Given the description of an element on the screen output the (x, y) to click on. 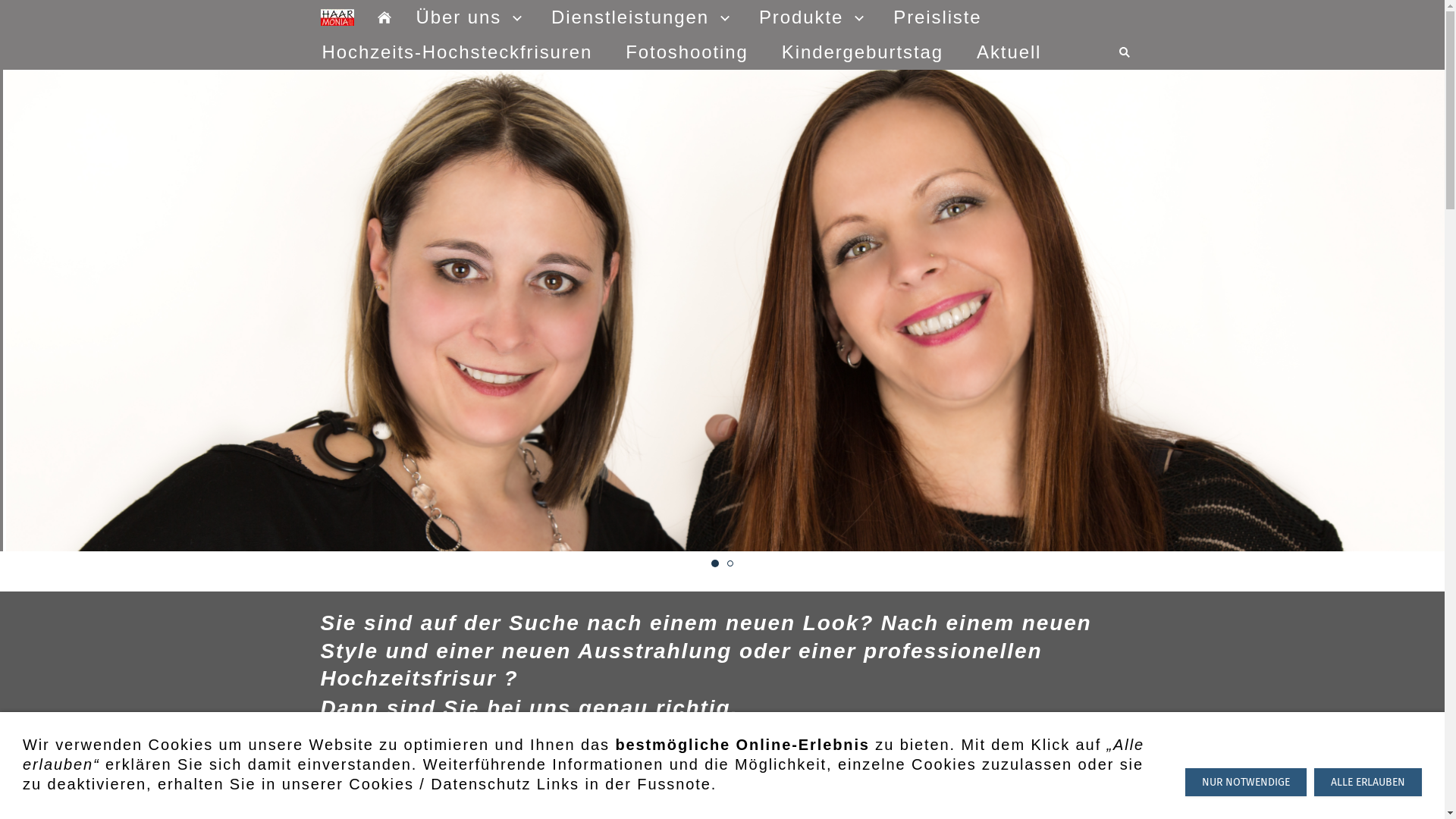
Preisliste Element type: text (936, 17)
Kindergeburtstag Element type: text (862, 51)
ALLE ERLAUBEN Element type: text (1367, 782)
NUR NOTWENDIGE Element type: text (1245, 782)
Dienstleistungen Element type: text (638, 17)
Hochzeits-Hochsteckfrisuren Element type: text (456, 51)
Fotoshooting Element type: text (686, 51)
Produkte Element type: text (809, 17)
Aktuell Element type: text (1008, 51)
